Given the description of an element on the screen output the (x, y) to click on. 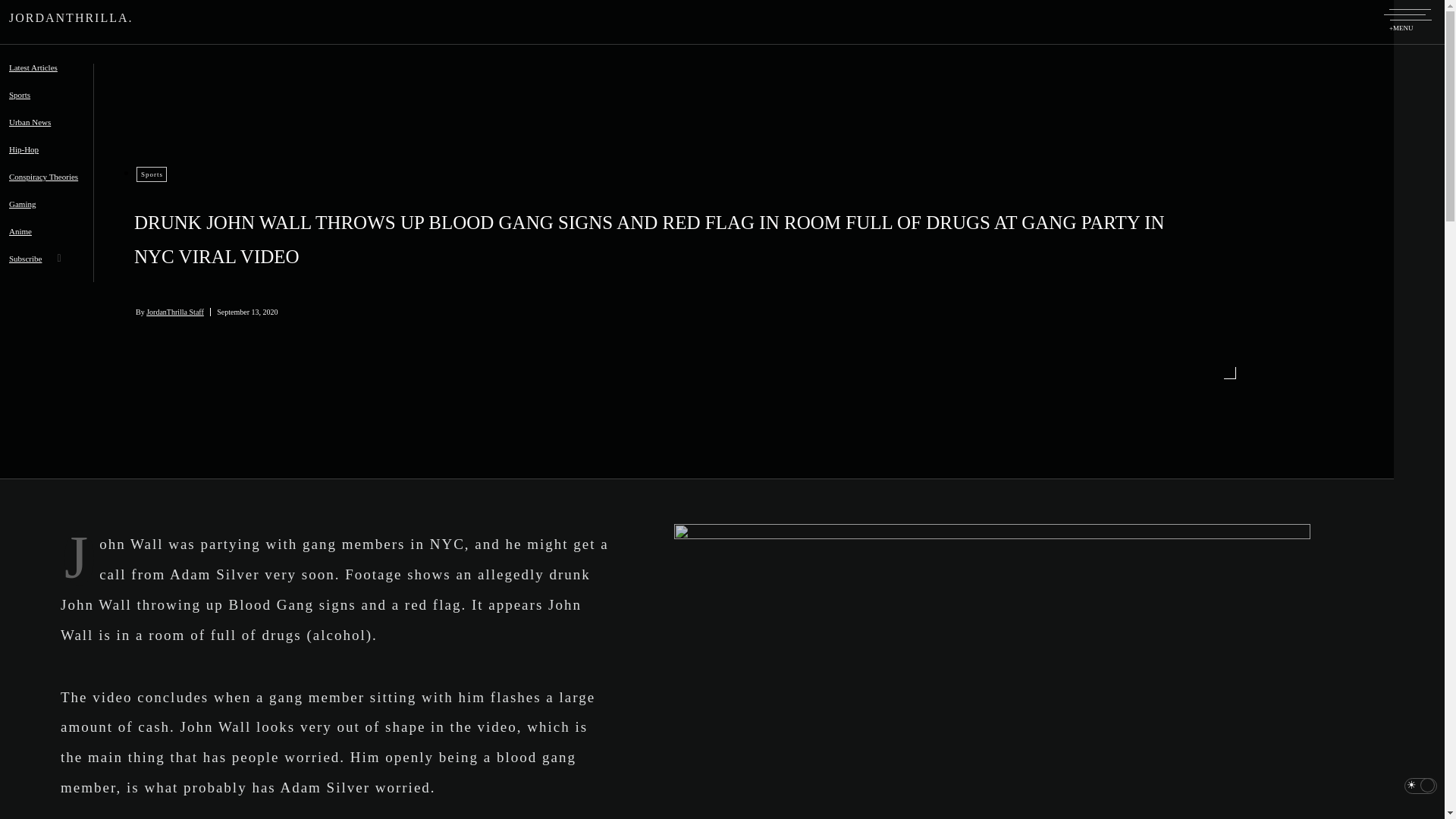
Conspiracy Theories (48, 185)
JordanThrilla Staff (179, 311)
Sports (25, 103)
Urban News (35, 131)
Hip-Hop (28, 158)
Sports (151, 174)
Anime (25, 240)
Subscribe (30, 267)
Latest Articles (38, 76)
Gaming (27, 213)
